Given the description of an element on the screen output the (x, y) to click on. 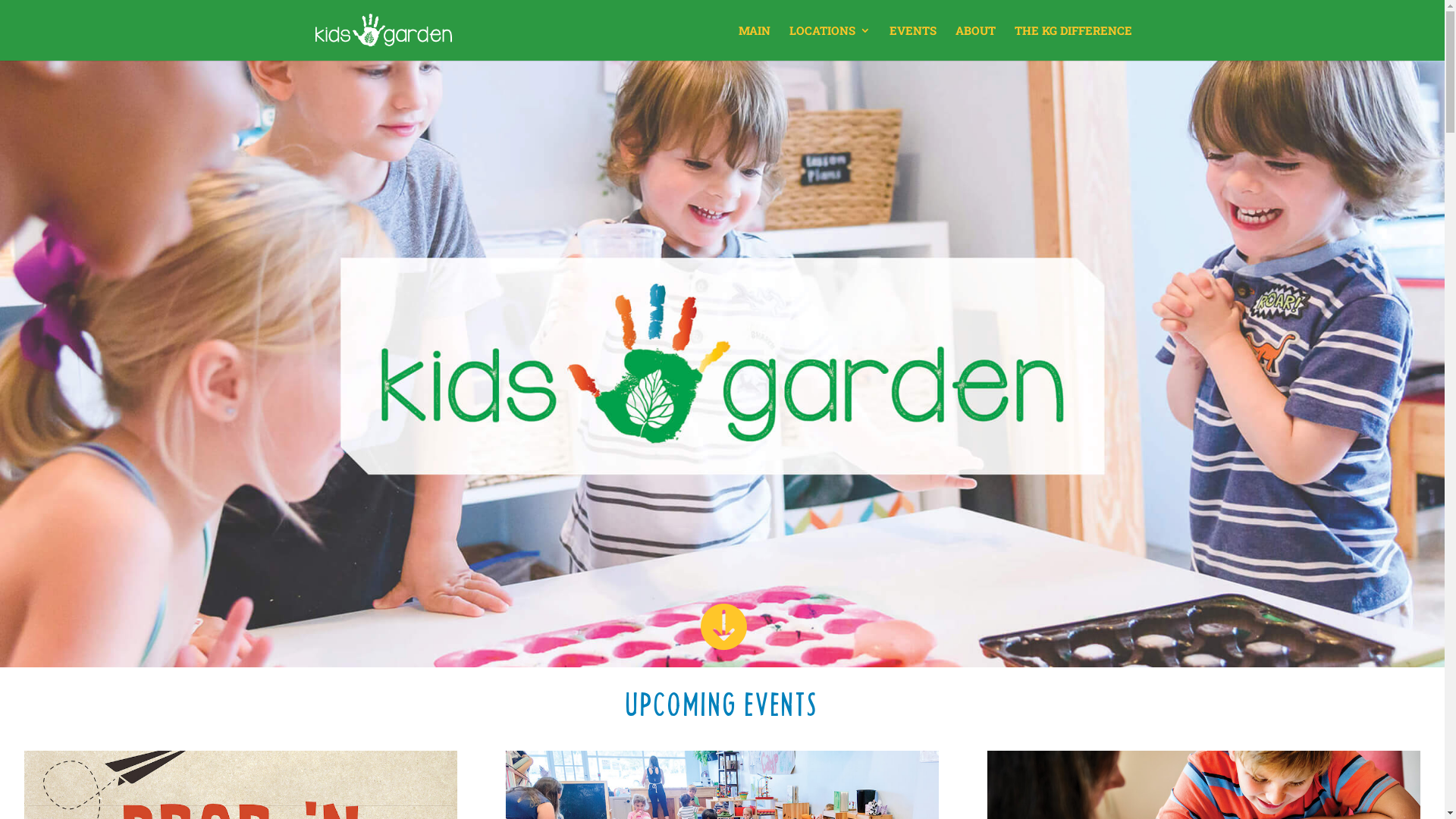
ABOUT Element type: text (975, 42)
LOCATIONS Element type: text (828, 42)
MAIN Element type: text (754, 42)
EVENTS Element type: text (911, 42)
THE KG DIFFERENCE Element type: text (1073, 42)
